Given the description of an element on the screen output the (x, y) to click on. 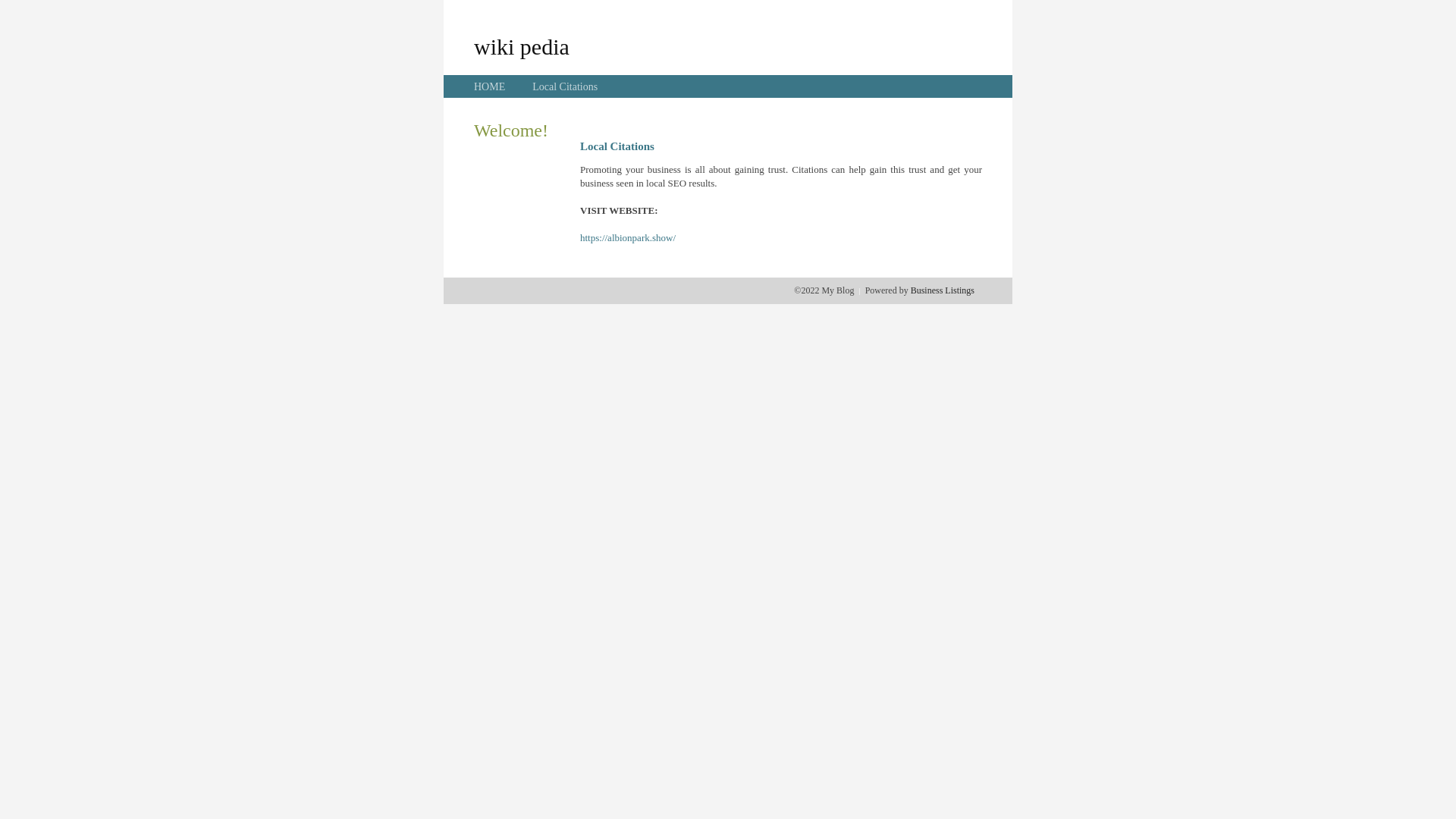
Business Listings Element type: text (942, 290)
https://albionpark.show/ Element type: text (627, 237)
HOME Element type: text (489, 86)
Local Citations Element type: text (564, 86)
wiki pedia Element type: text (521, 46)
